Given the description of an element on the screen output the (x, y) to click on. 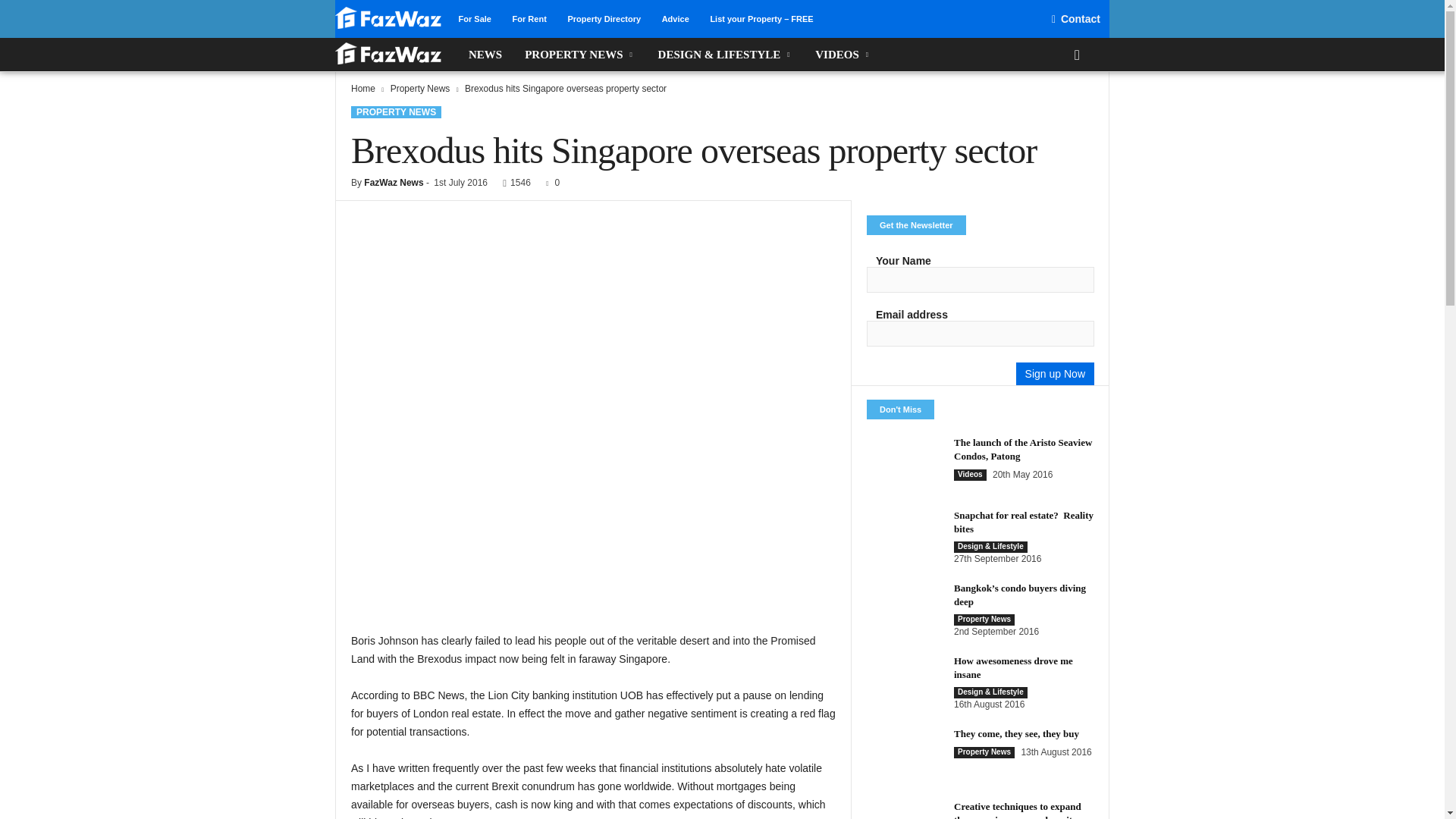
For Rent (529, 18)
Sign up Now (1055, 373)
Property Directory (603, 18)
For Sale (475, 18)
